Given the description of an element on the screen output the (x, y) to click on. 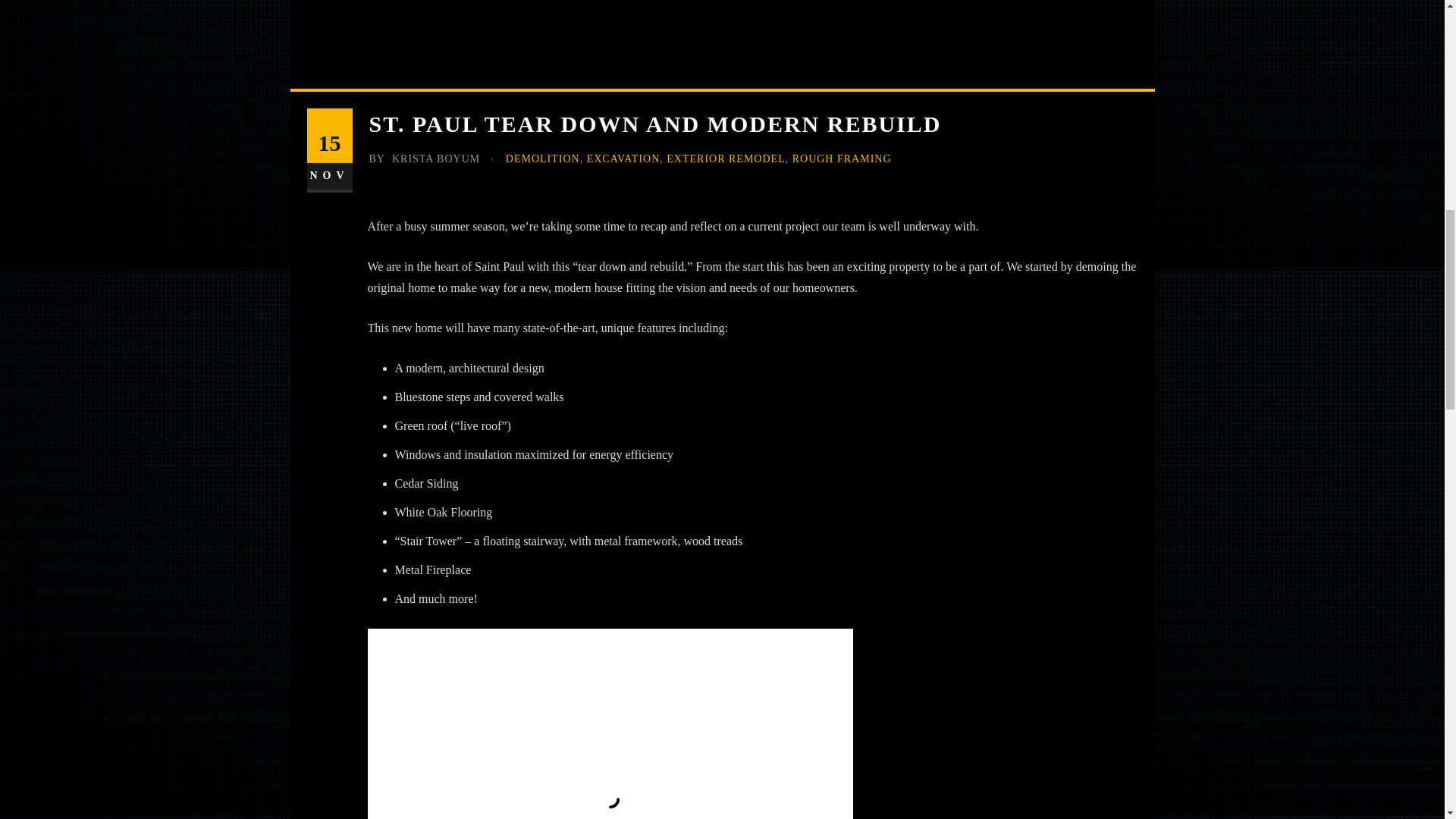
ST. PAUL TEAR DOWN AND MODERN REBUILD (654, 123)
EXCAVATION (623, 158)
EXTERIOR REMODEL (725, 158)
BY KRISTA BOYUM (424, 158)
DEMOLITION (542, 158)
ROUGH FRAMING (841, 158)
29A520FD-173B-4BCE-A271-A8E4C8E3DA64 2 (608, 723)
